Given the description of an element on the screen output the (x, y) to click on. 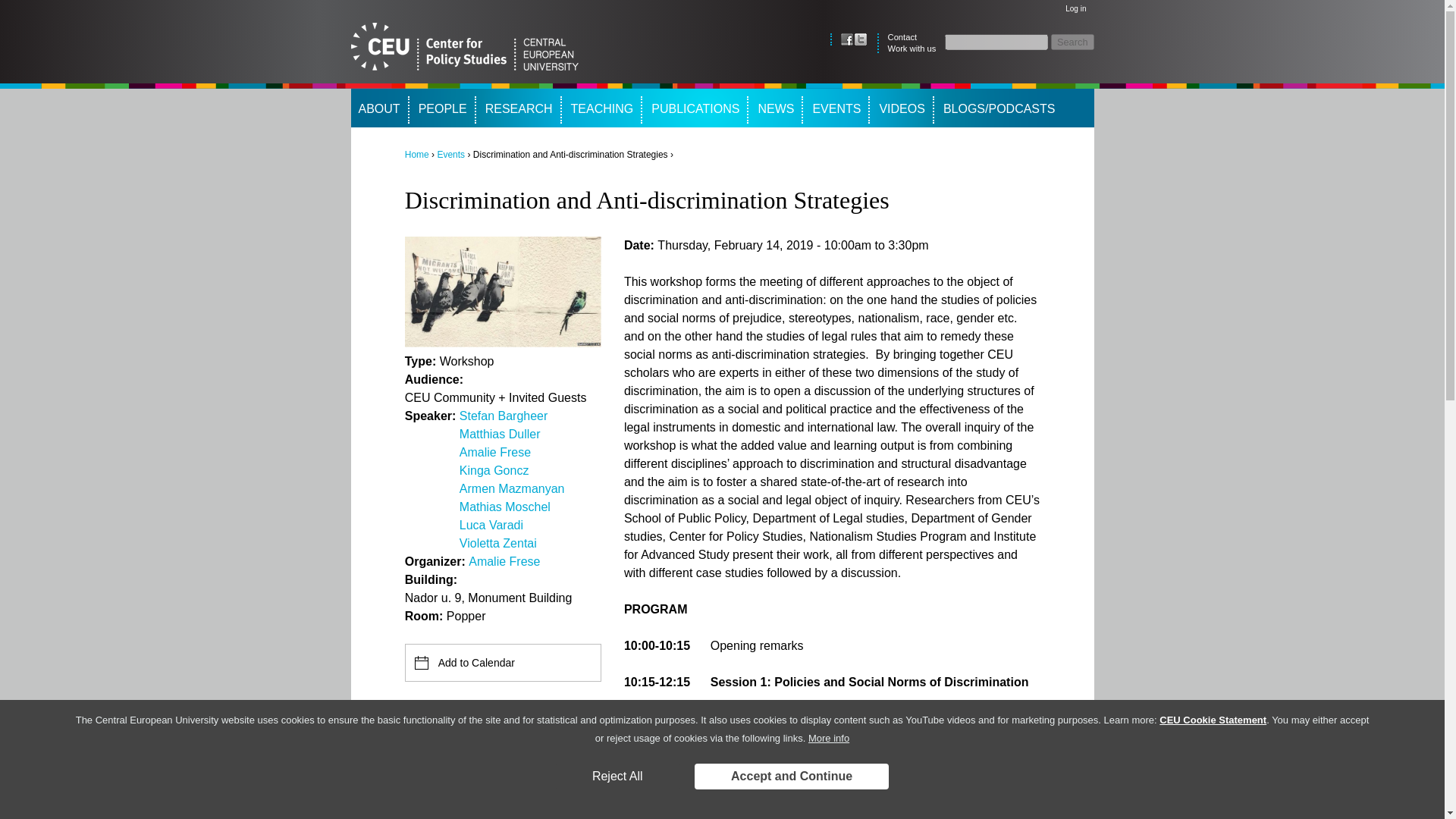
twitter (860, 39)
Contact (902, 36)
Enter the terms you wish to search for. (996, 41)
Log in (1075, 8)
Luca Varadi (491, 524)
Search (1072, 41)
Events (450, 154)
Matthias Duller (500, 433)
Search (1072, 41)
Kinga Goncz (494, 470)
